Given the description of an element on the screen output the (x, y) to click on. 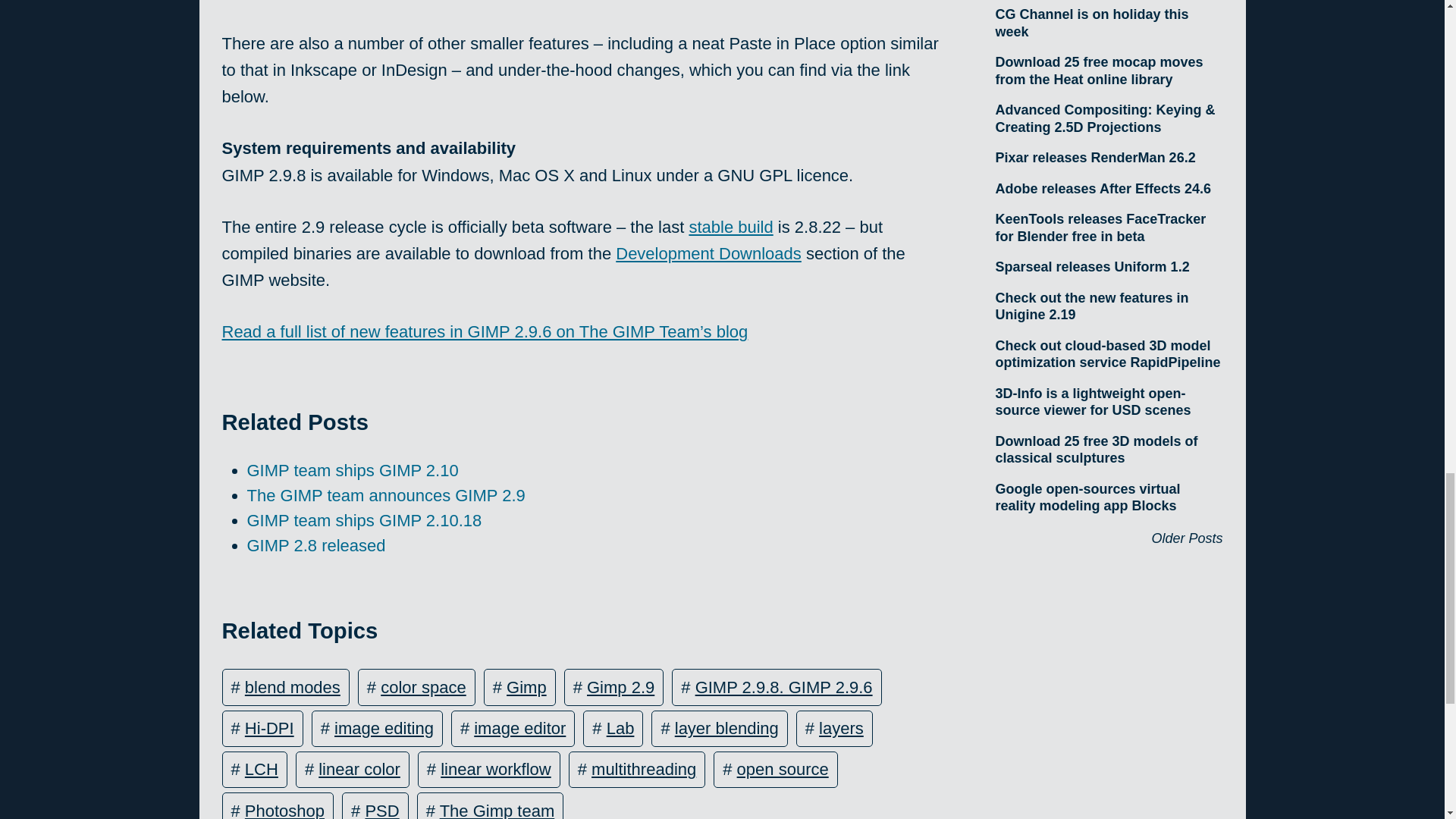
image editor (520, 728)
Development Downloads (708, 253)
linear color (359, 769)
GIMP 2.8 released (316, 545)
LCH (261, 769)
blend modes (292, 687)
Gimp (526, 687)
GIMP team ships GIMP 2.10 (352, 470)
layers (840, 728)
image editing (383, 728)
